Given the description of an element on the screen output the (x, y) to click on. 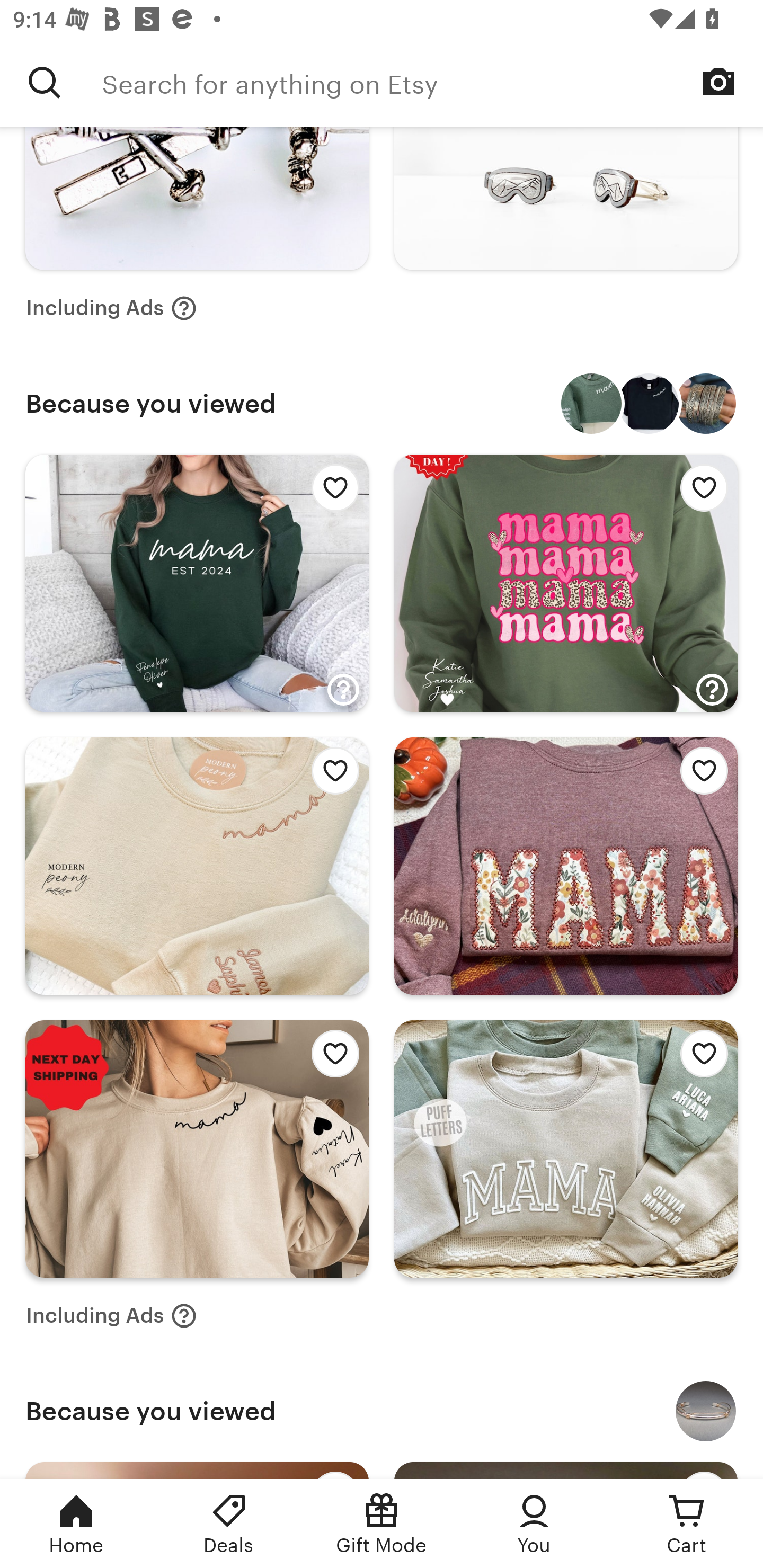
Search for anything on Etsy (44, 82)
Search by image (718, 81)
Search for anything on Etsy (432, 82)
Including Ads (111, 307)
Including Ads (111, 1315)
Deals (228, 1523)
Gift Mode (381, 1523)
You (533, 1523)
Cart (686, 1523)
